Given the description of an element on the screen output the (x, y) to click on. 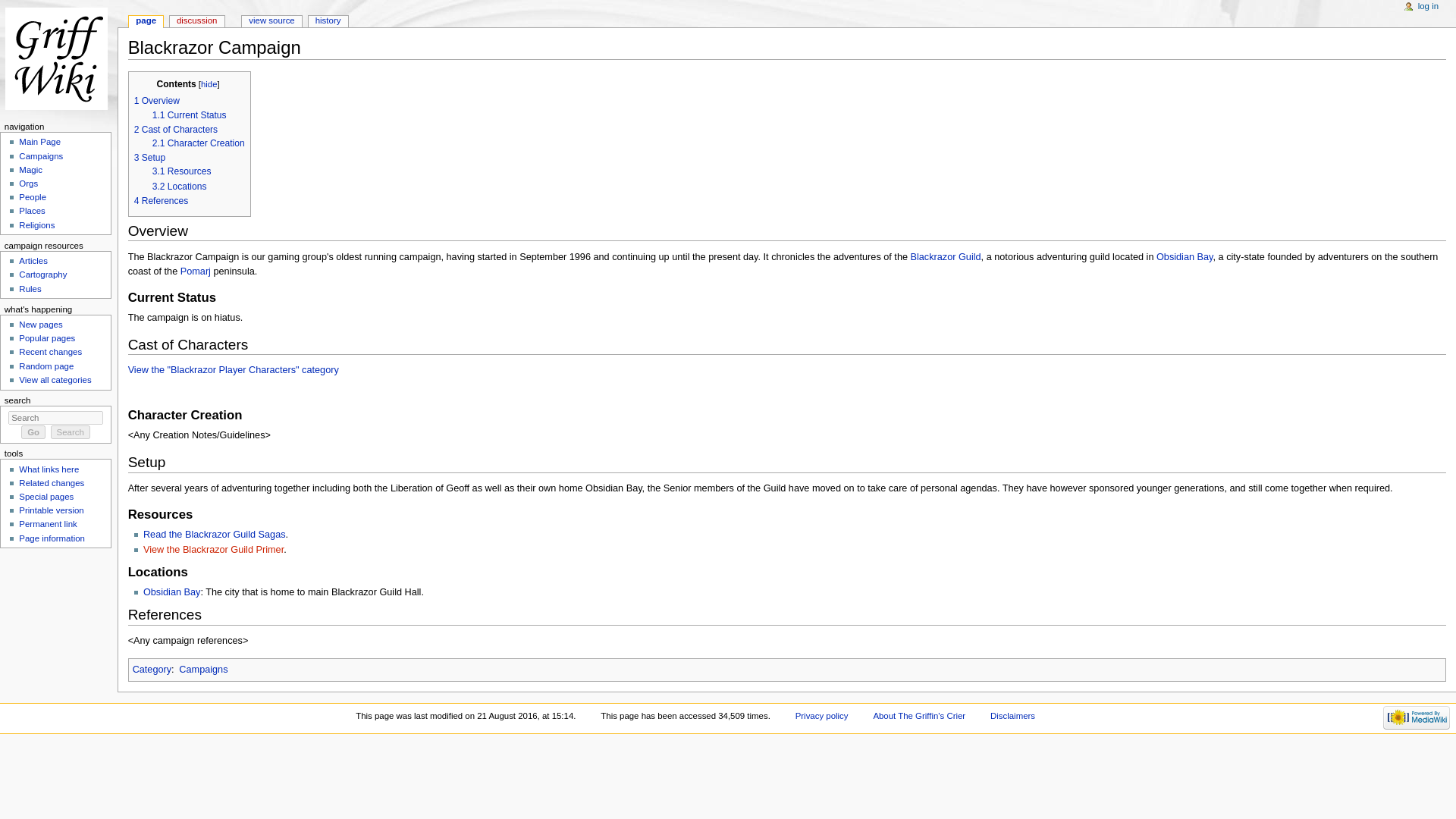
Category:Campaigns (203, 669)
4 References (161, 200)
page (146, 21)
People (32, 196)
Cartography (42, 274)
Search (70, 431)
Obsidian Bay (1184, 256)
Pomarj (195, 271)
Blackrazor Guild (946, 256)
Search (70, 431)
3.1 Resources (181, 171)
3.2 Locations (179, 185)
Special:Categories (151, 669)
Magic (30, 169)
discussion (197, 21)
